Given the description of an element on the screen output the (x, y) to click on. 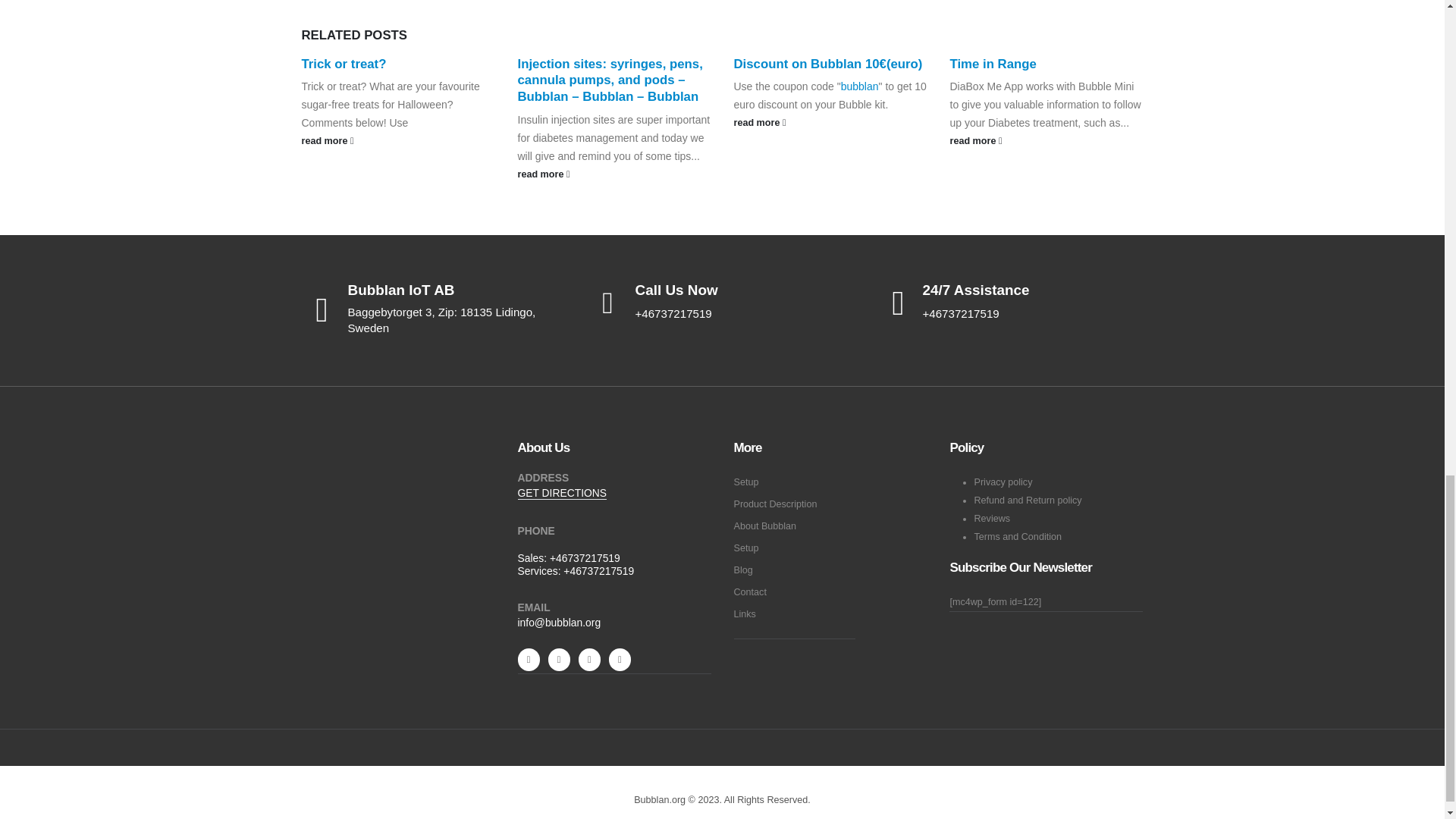
Instagram (588, 659)
Youtube (559, 659)
Trick or treat? (344, 63)
Telegram (619, 659)
Facebook (527, 659)
read more (398, 140)
